Given the description of an element on the screen output the (x, y) to click on. 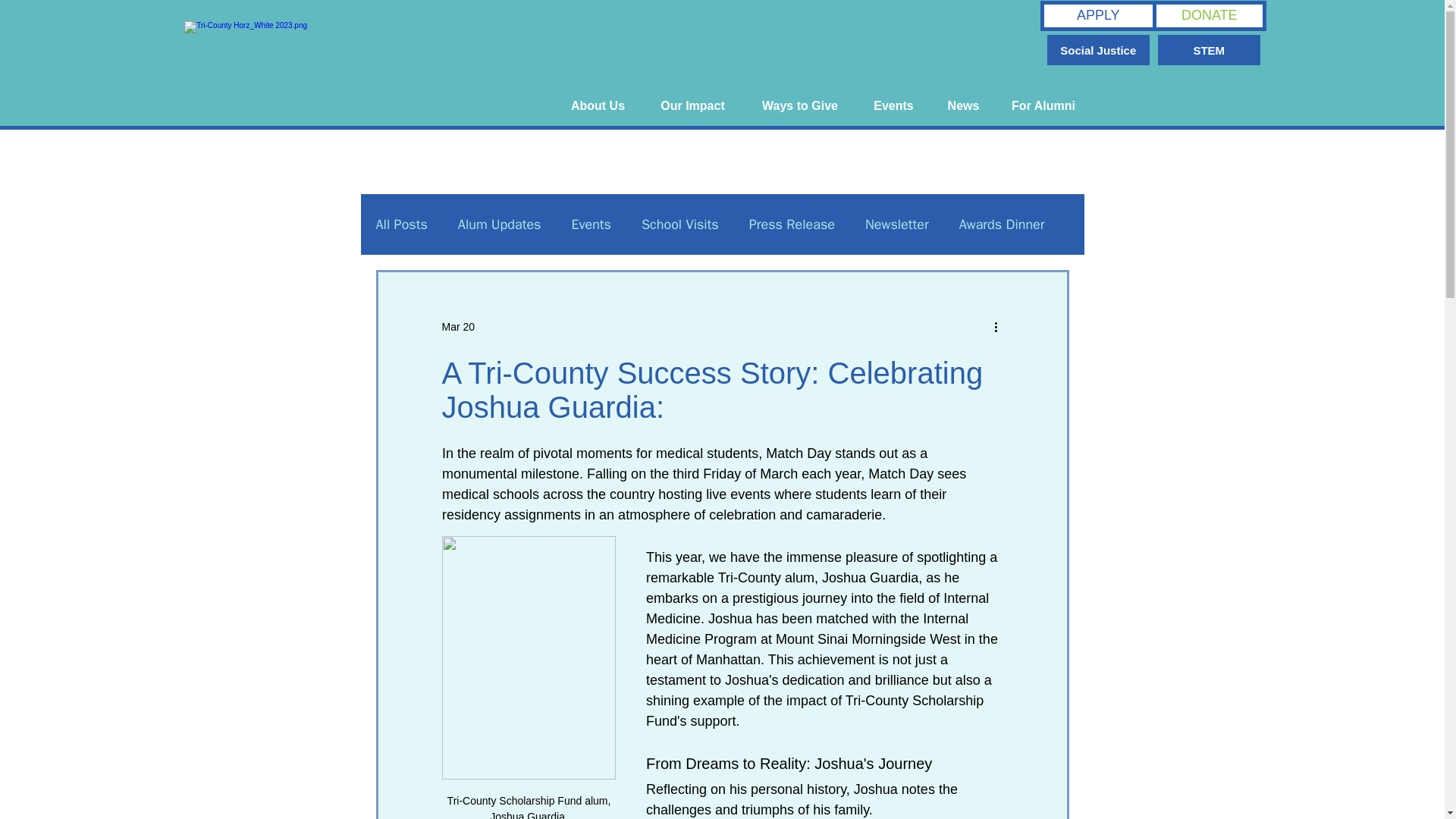
About Us (597, 105)
Ways to Give (799, 105)
Our Impact (692, 105)
News (963, 105)
APPLY (1098, 15)
DONATE (1209, 15)
Awards Dinner (1002, 224)
Events (590, 224)
Events (894, 105)
Press Release (791, 224)
Newsletter (896, 224)
Social Justice (1098, 50)
For Alumni (1042, 105)
STEM (1208, 50)
All Posts (401, 224)
